Given the description of an element on the screen output the (x, y) to click on. 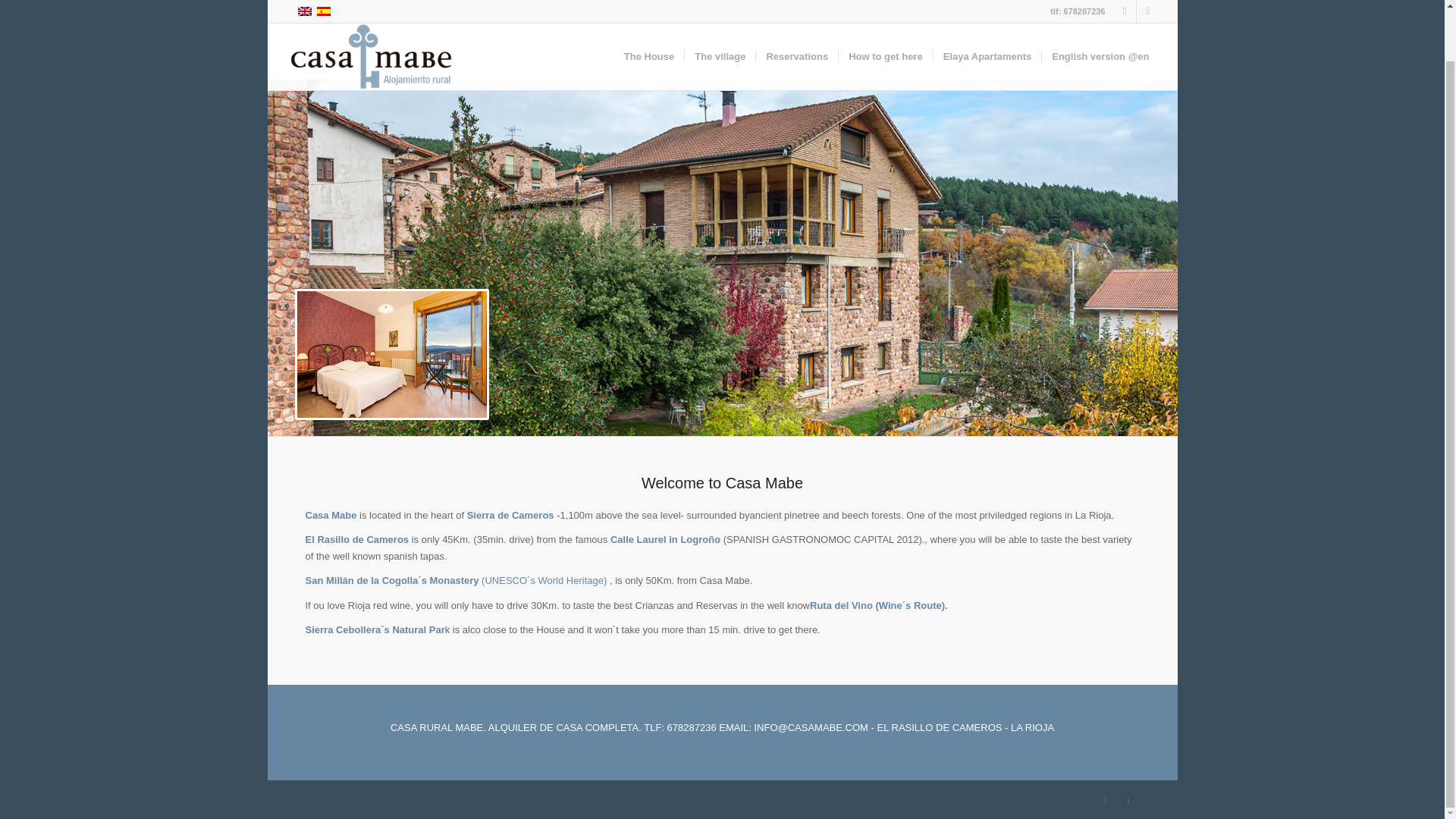
Home (320, 56)
Reservations (796, 17)
The village (719, 17)
The House (649, 17)
Permanent Link: Home (320, 56)
